Given the description of an element on the screen output the (x, y) to click on. 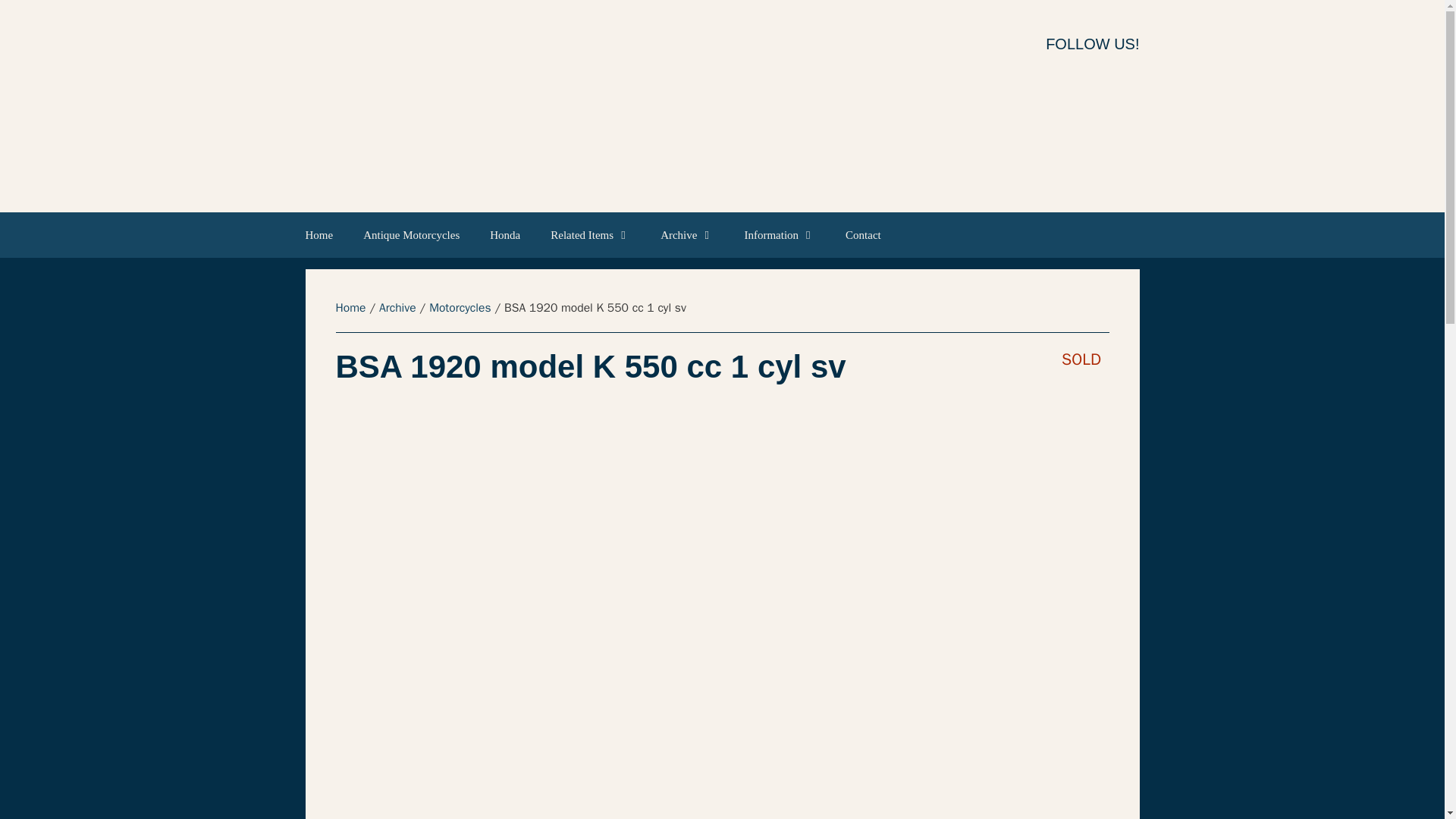
Archive (397, 307)
Yesterdays (675, 106)
Related Items (590, 234)
Contact (862, 234)
Home (349, 307)
Motorcycles (459, 307)
Archive (687, 234)
Home (325, 234)
Yesterdays (675, 105)
Information (779, 234)
